Given the description of an element on the screen output the (x, y) to click on. 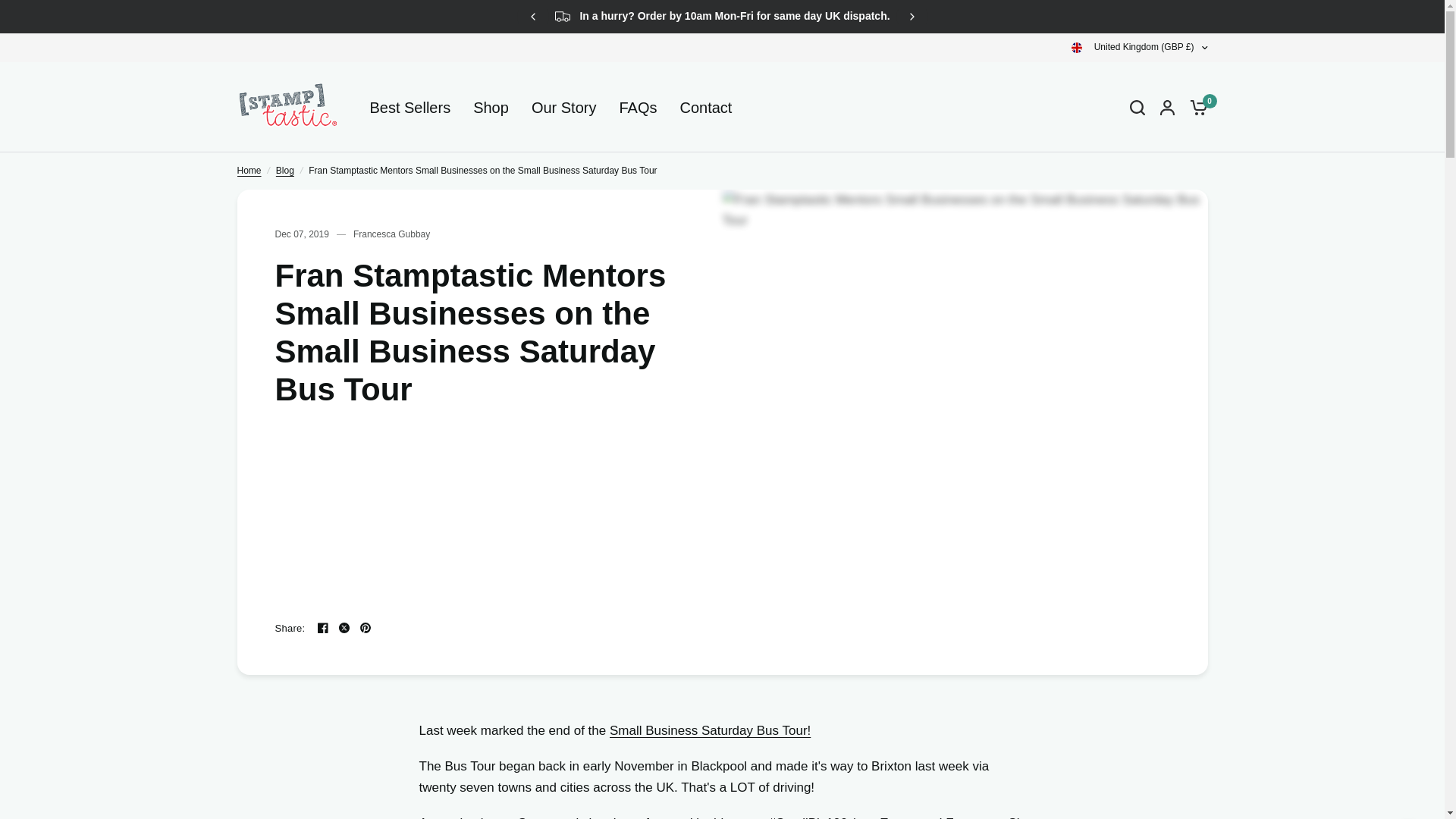
Facebook (322, 628)
Home (247, 170)
X (343, 628)
Pinterest (1198, 67)
X (1176, 67)
Blog (285, 170)
Facebook (1155, 67)
